Given the description of an element on the screen output the (x, y) to click on. 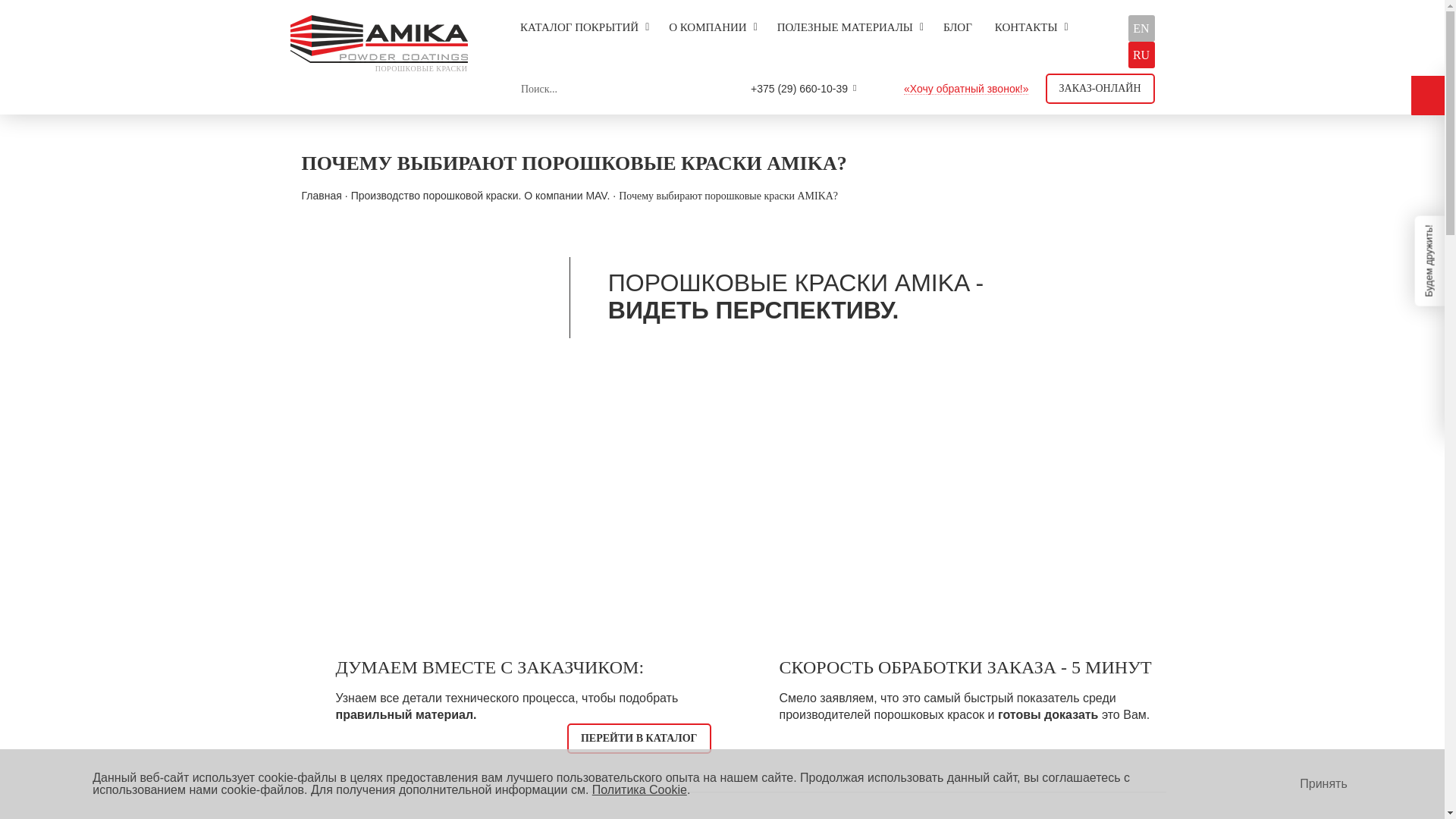
RU Element type: text (1141, 54)
+375 (29) 660-10-39 Element type: text (798, 88)
EN Element type: text (1141, 28)
